Given the description of an element on the screen output the (x, y) to click on. 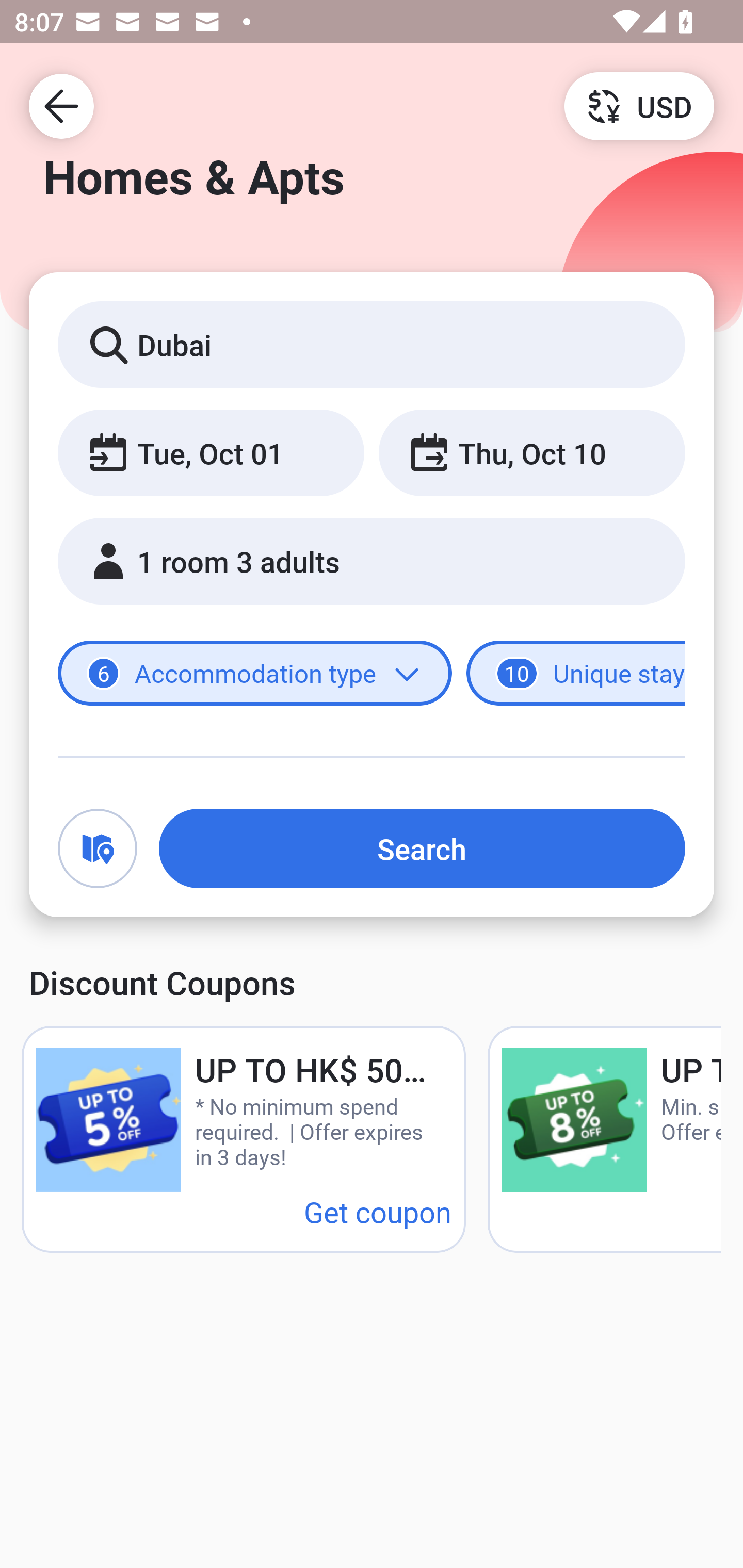
USD (639, 105)
Dubai (371, 344)
Tue, Oct 01 (210, 452)
Thu, Oct 10 (531, 452)
1 room 3 adults (371, 561)
6 Accommodation type (254, 673)
10 Unique stays (575, 673)
Search (422, 848)
Get coupon (377, 1211)
